Given the description of an element on the screen output the (x, y) to click on. 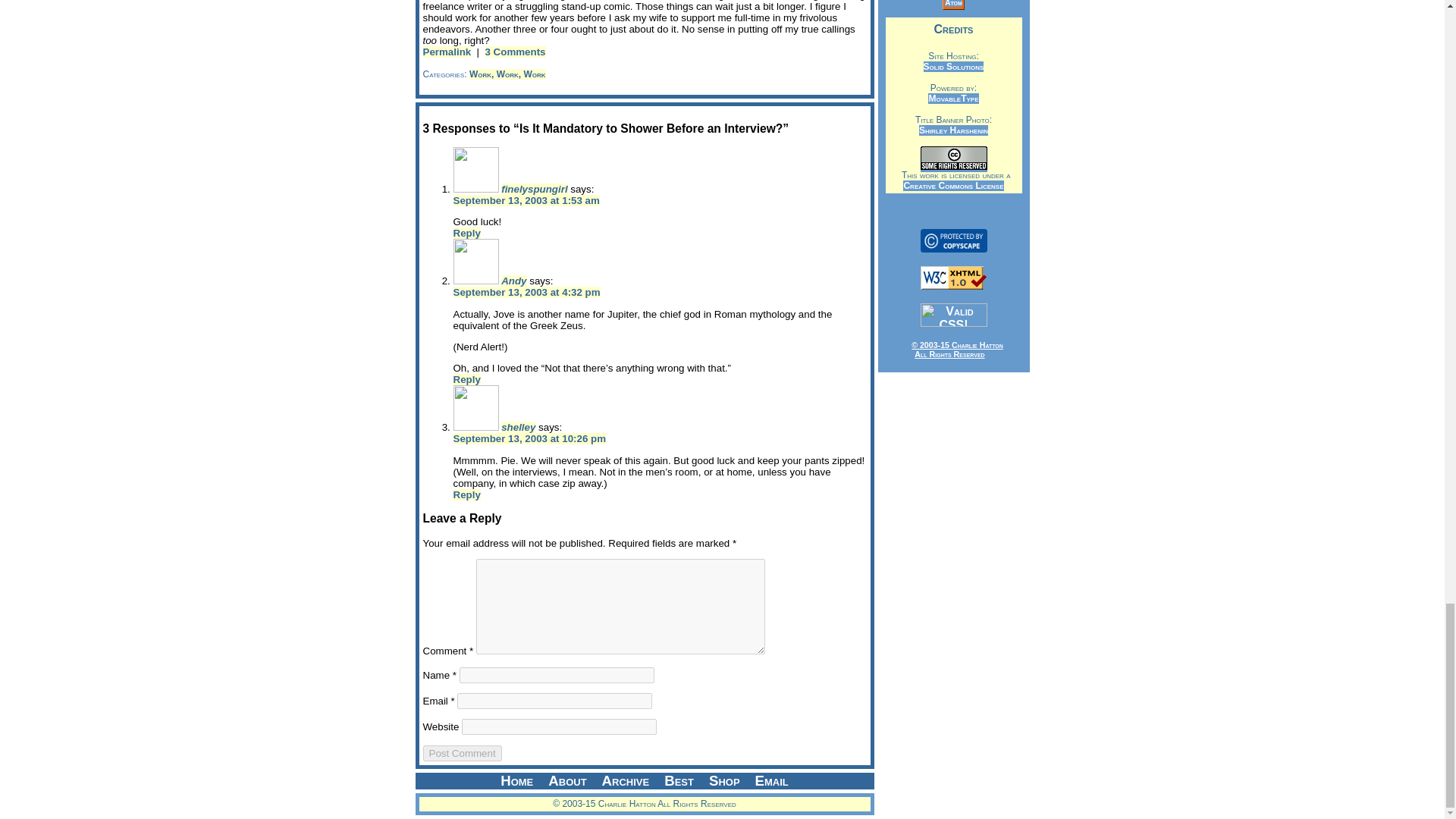
Home (516, 780)
Reply (466, 233)
Post Comment (462, 753)
finelyspungirl (533, 188)
About (567, 780)
September 13, 2003 at 4:32 pm (525, 292)
shelley (517, 427)
Post Comment (462, 753)
Reply (466, 494)
Archive (626, 780)
September 13, 2003 at 10:26 pm (529, 438)
Reply (466, 378)
Atom (953, 3)
Work, Work, Work (507, 73)
